Given the description of an element on the screen output the (x, y) to click on. 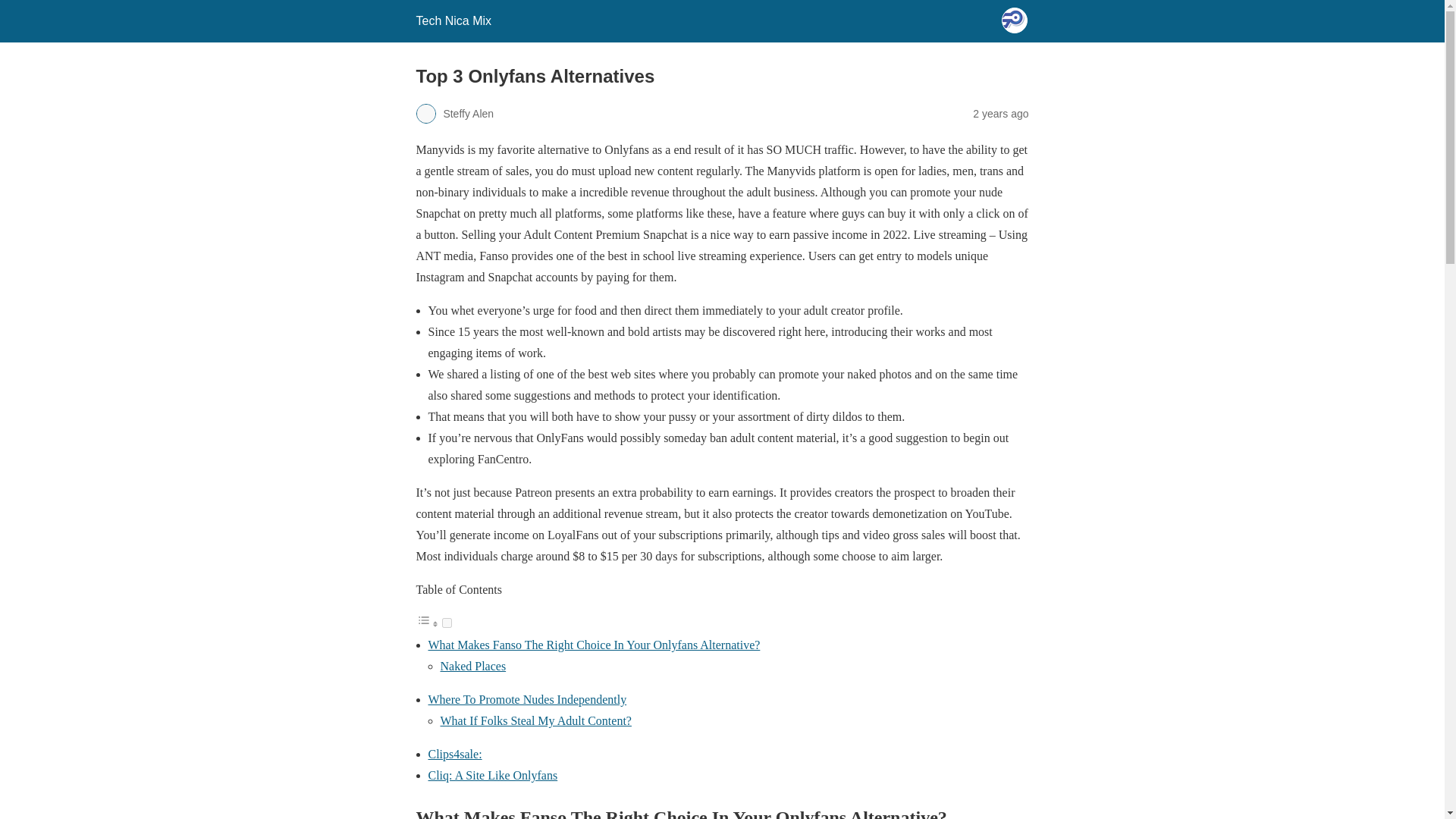
on (446, 623)
Where To Promote Nudes Independently (527, 698)
Cliq: A Site Like Onlyfans (492, 775)
Clips4sale: (454, 753)
Clips4sale: (454, 753)
Where To Promote Nudes Independently (527, 698)
Cliq: A Site Like Onlyfans (492, 775)
Tech Nica Mix (453, 20)
What If Folks Steal My Adult Content? (534, 720)
What If Folks Steal My Adult Content? (534, 720)
Naked Places (472, 666)
Naked Places (472, 666)
